Given the description of an element on the screen output the (x, y) to click on. 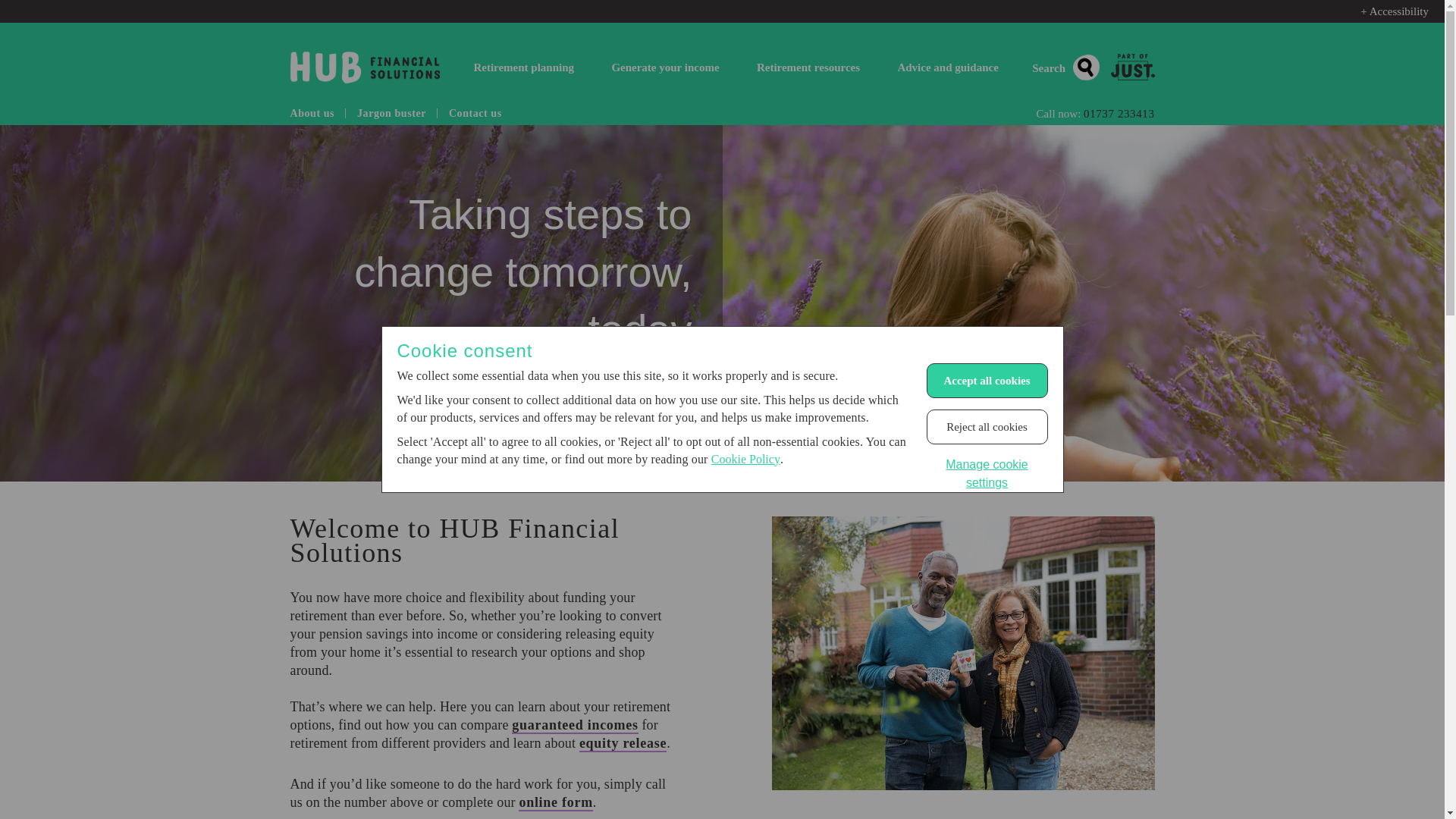
Reject all cookies (987, 426)
Accept all cookies (987, 380)
Manage cookie settings (987, 473)
Cookie Policy (745, 459)
